Given the description of an element on the screen output the (x, y) to click on. 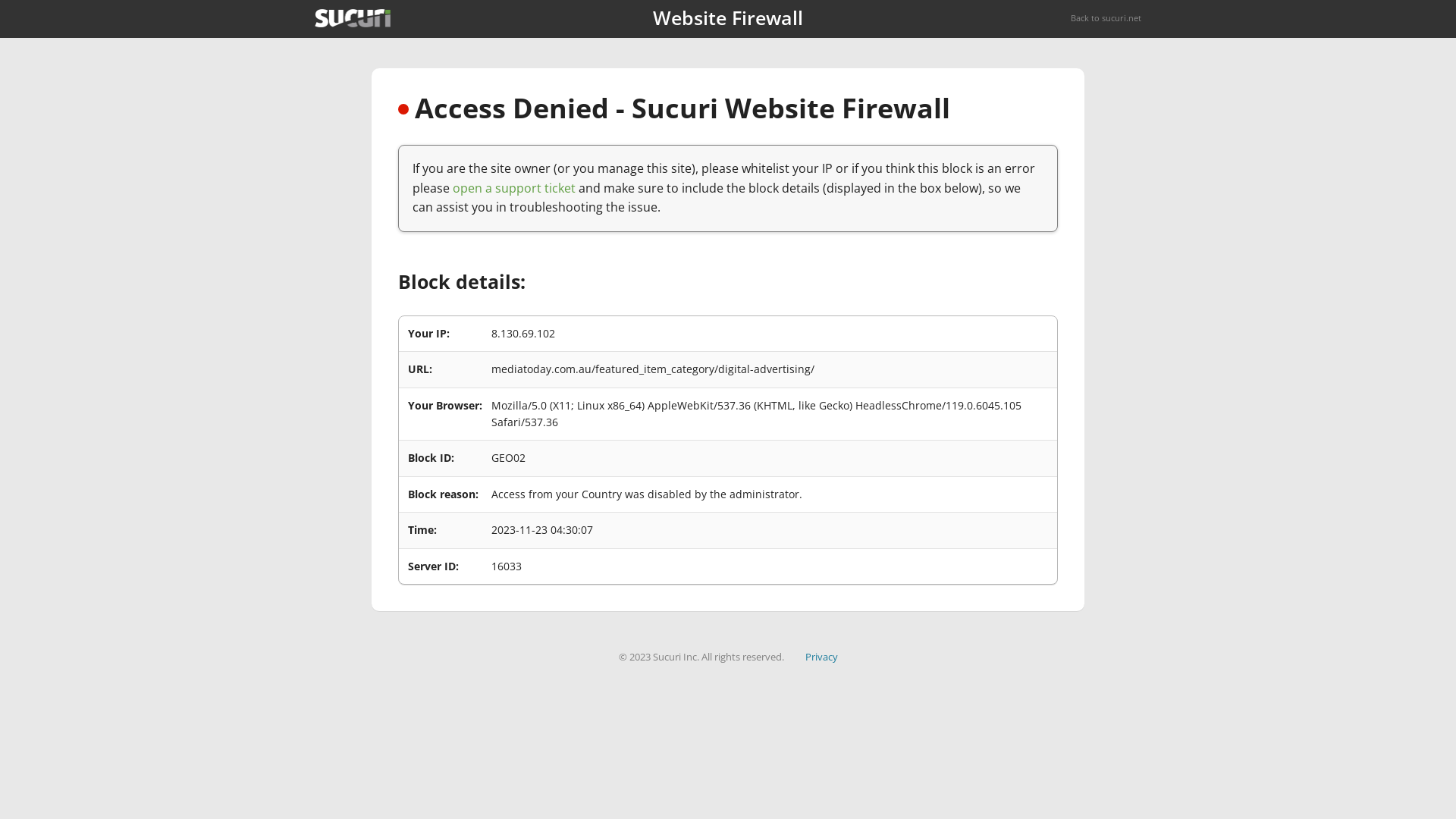
open a support ticket Element type: text (513, 187)
Back to sucuri.net Element type: text (1105, 18)
Privacy Element type: text (821, 656)
